Given the description of an element on the screen output the (x, y) to click on. 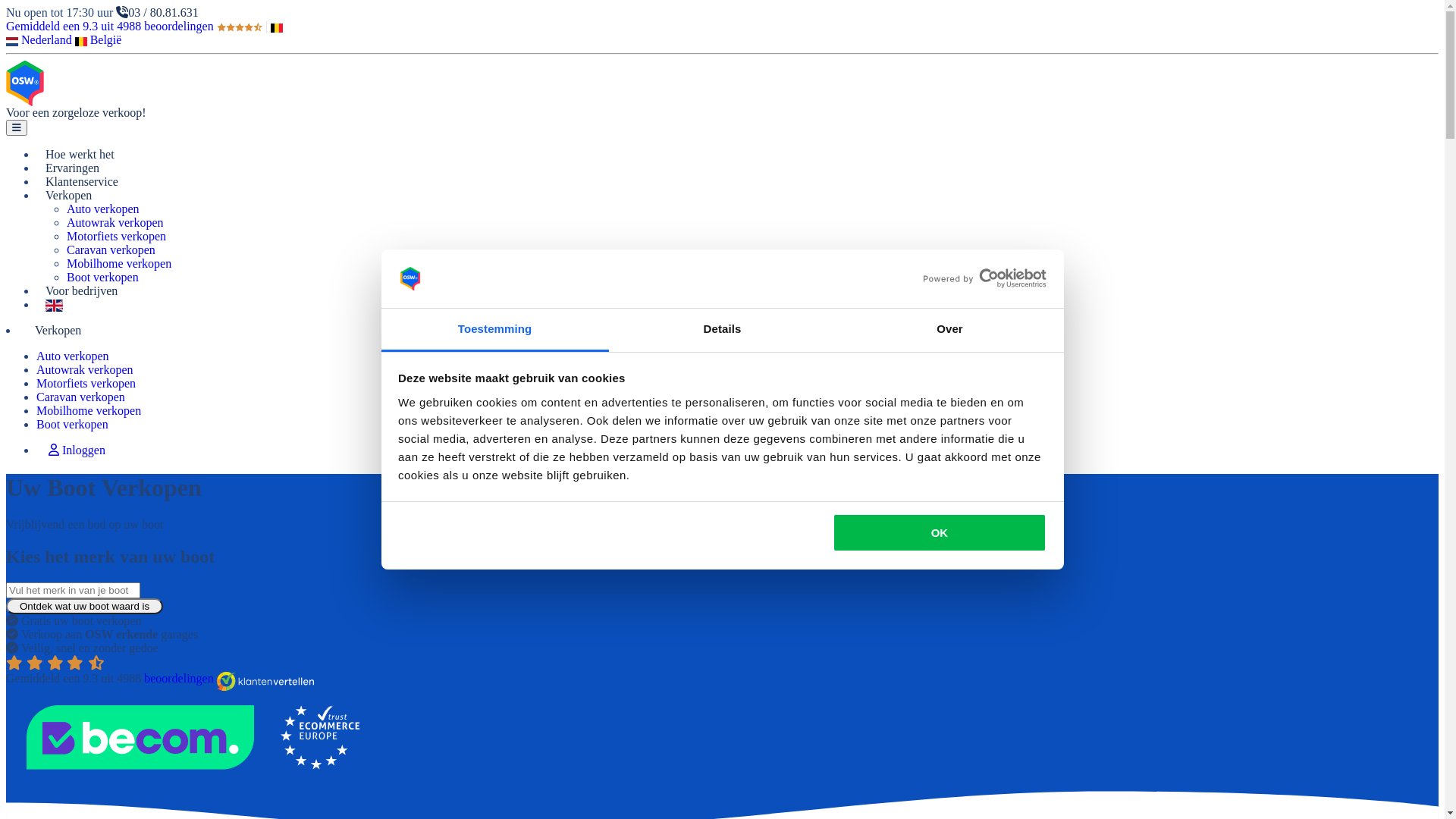
Auto verkopen Element type: text (72, 355)
03 / 80.81.631 Element type: text (156, 12)
Caravan verkopen Element type: text (110, 249)
Autowrak verkopen Element type: text (114, 222)
Voor bedrijven Element type: text (81, 290)
Boot verkopen Element type: text (72, 423)
Webwinkel Keurmerk en klantbeoordelingen Element type: hover (195, 696)
Verkopen Element type: text (57, 329)
beoordelingen Element type: text (178, 677)
Nederland Element type: text (39, 39)
Motorfiets verkopen Element type: text (116, 235)
Ontdek wat uw boot waard is Element type: text (84, 606)
OK Element type: text (939, 532)
Caravan verkopen Element type: text (80, 396)
Boot verkopen Element type: text (102, 276)
Over Element type: text (949, 329)
Inloggen Element type: text (76, 449)
Motorfiets verkopen Element type: text (85, 382)
Toestemming Element type: text (494, 329)
Ervaringen Element type: text (72, 167)
Auto verkopen Element type: text (102, 208)
Klantenservice Element type: text (81, 181)
Hoe werkt het Element type: text (79, 153)
Mobilhome verkopen Element type: text (88, 410)
Autowrak verkopen Element type: text (84, 369)
Details Element type: text (721, 329)
Mobilhome verkopen Element type: text (118, 263)
Gemiddeld een 9.3 uit 4988 beoordelingen Element type: text (134, 25)
Verkopen Element type: text (68, 194)
